Given the description of an element on the screen output the (x, y) to click on. 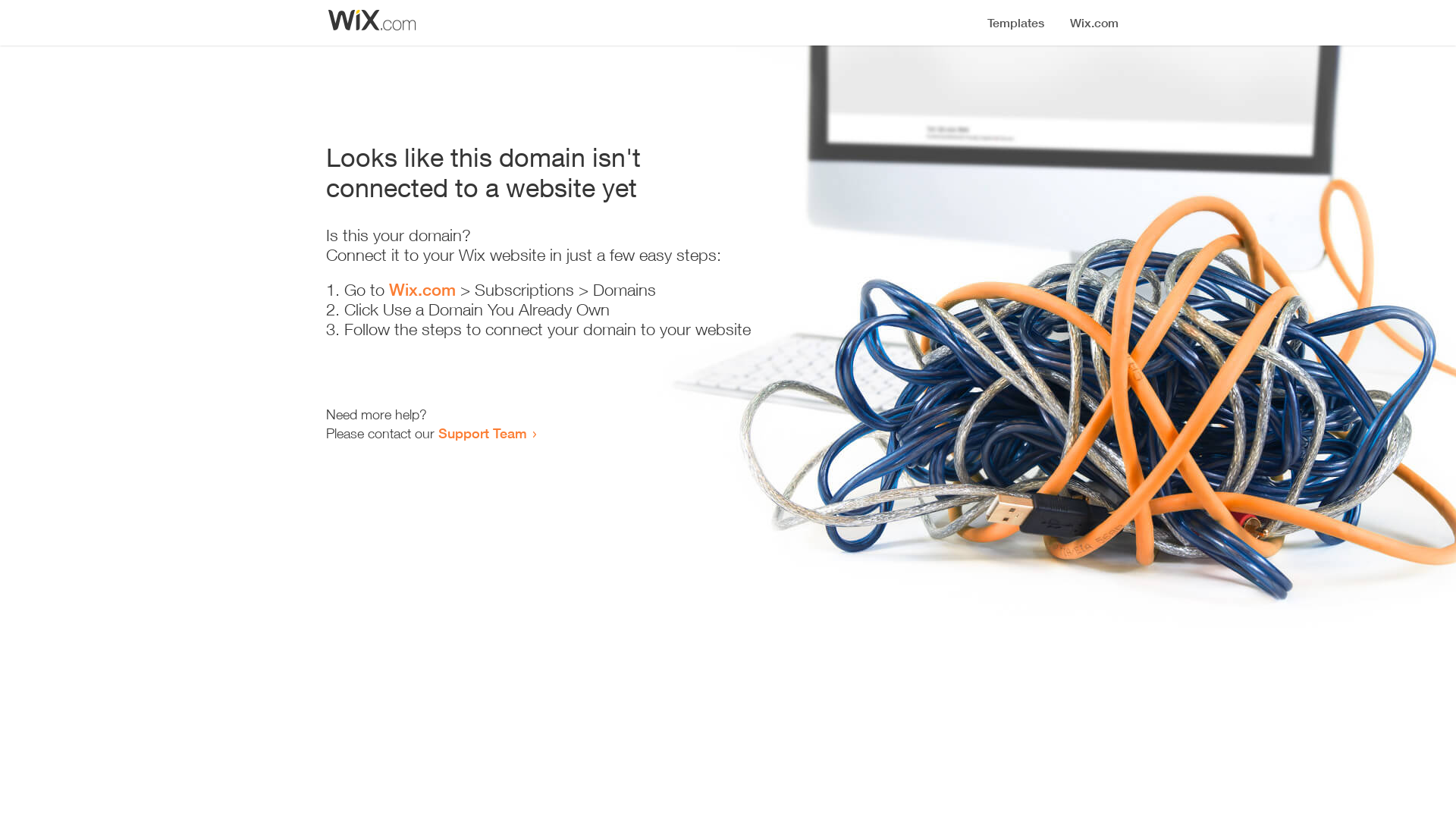
Wix.com Element type: text (422, 289)
Support Team Element type: text (482, 432)
